Given the description of an element on the screen output the (x, y) to click on. 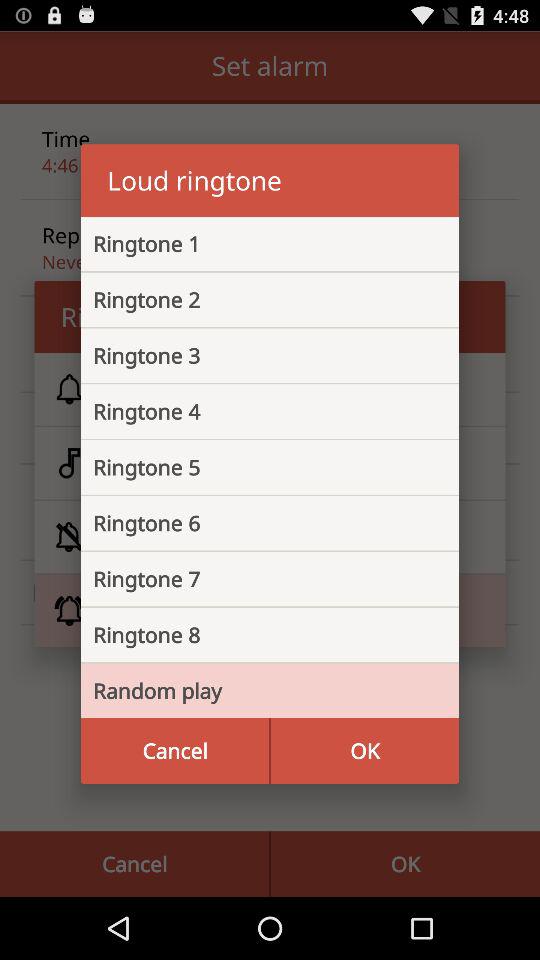
turn on ringtone 1 icon (254, 243)
